Given the description of an element on the screen output the (x, y) to click on. 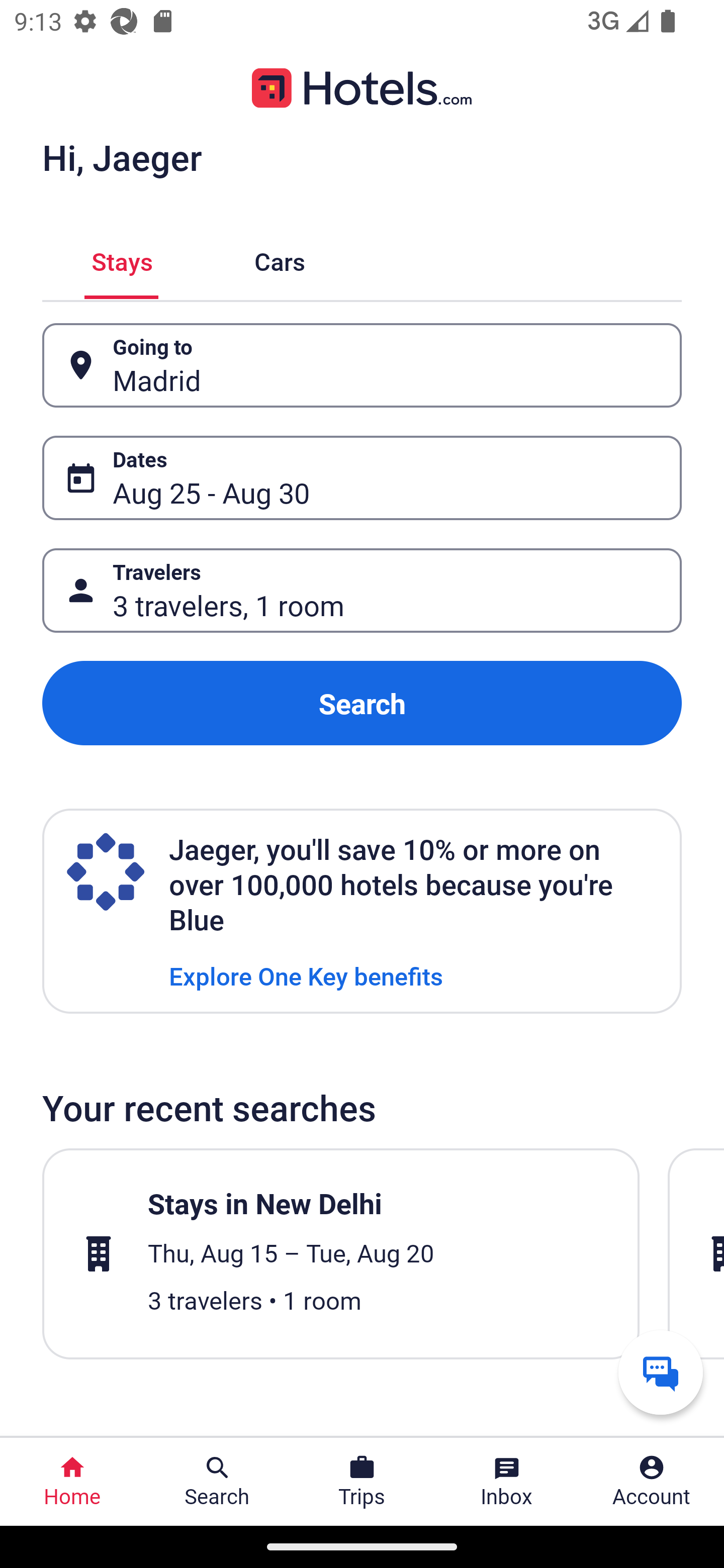
Hi, Jaeger (121, 156)
Cars (279, 259)
Going to Button Madrid (361, 365)
Dates Button Aug 25 - Aug 30 (361, 477)
Travelers Button 3 travelers, 1 room (361, 590)
Search (361, 702)
Get help from a virtual agent (660, 1371)
Search Search Button (216, 1481)
Trips Trips Button (361, 1481)
Inbox Inbox Button (506, 1481)
Account Profile. Button (651, 1481)
